Given the description of an element on the screen output the (x, y) to click on. 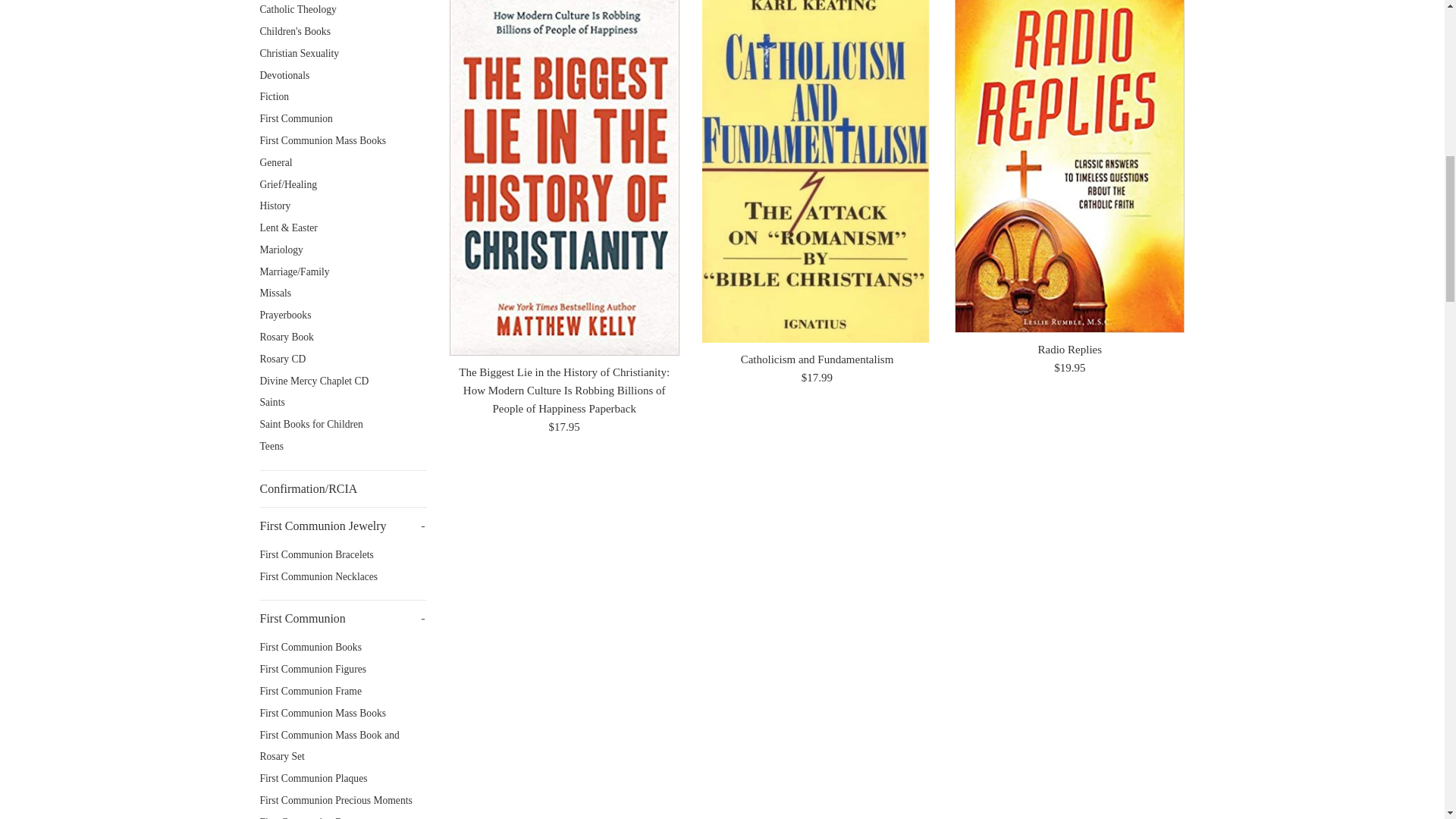
Catholic Theology (342, 10)
Children's Books (342, 32)
Christian Sexuality (342, 54)
